Given the description of an element on the screen output the (x, y) to click on. 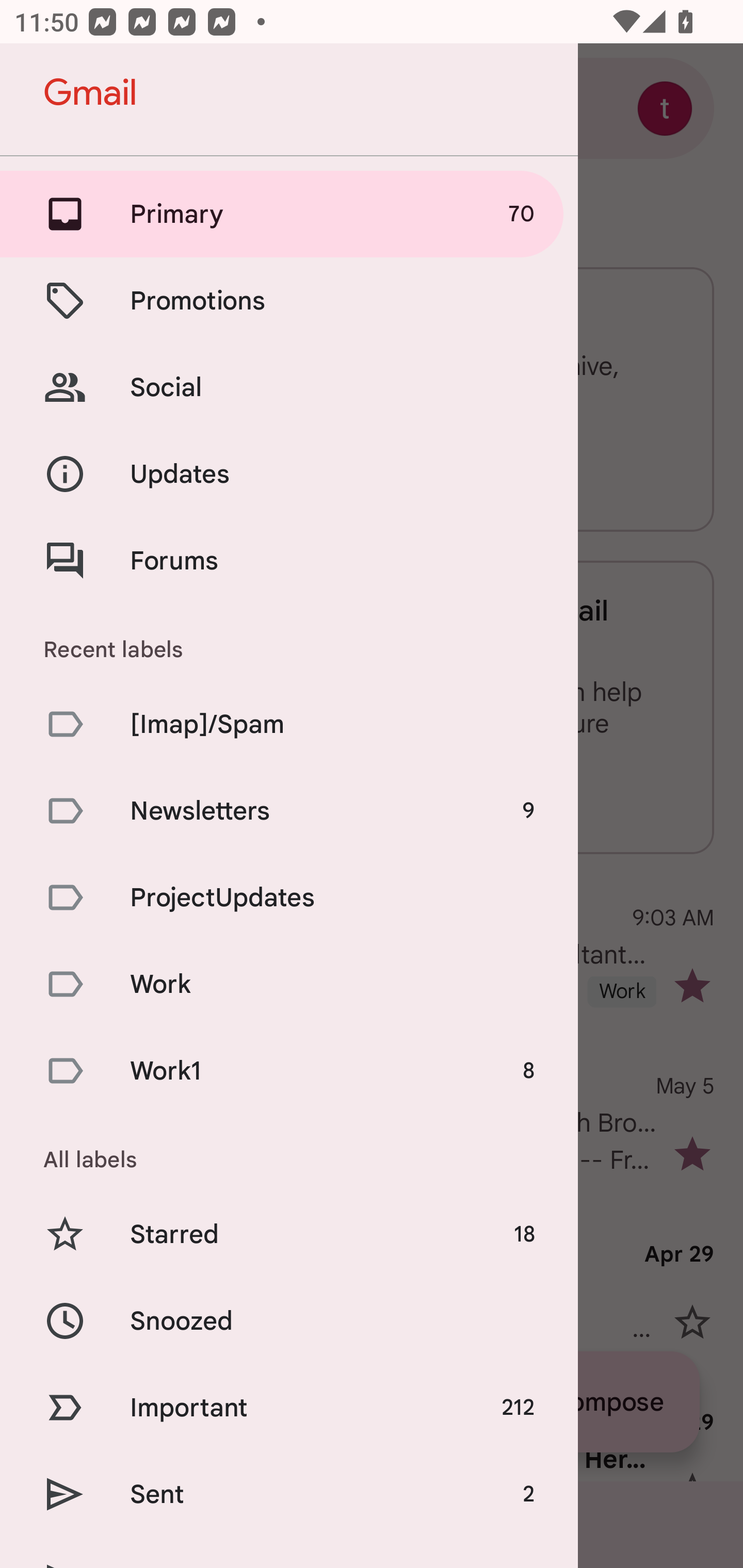
Primary 70 (289, 213)
Promotions (289, 300)
Social (289, 387)
Updates (289, 474)
Forums (289, 560)
[Imap]/Spam (289, 723)
Newsletters 9 (289, 810)
ProjectUpdates (289, 897)
Work (289, 983)
Work1 8 (289, 1070)
Starred 18 (289, 1234)
Snoozed (289, 1320)
Important 212 (289, 1407)
Sent 2 (289, 1494)
